Given the description of an element on the screen output the (x, y) to click on. 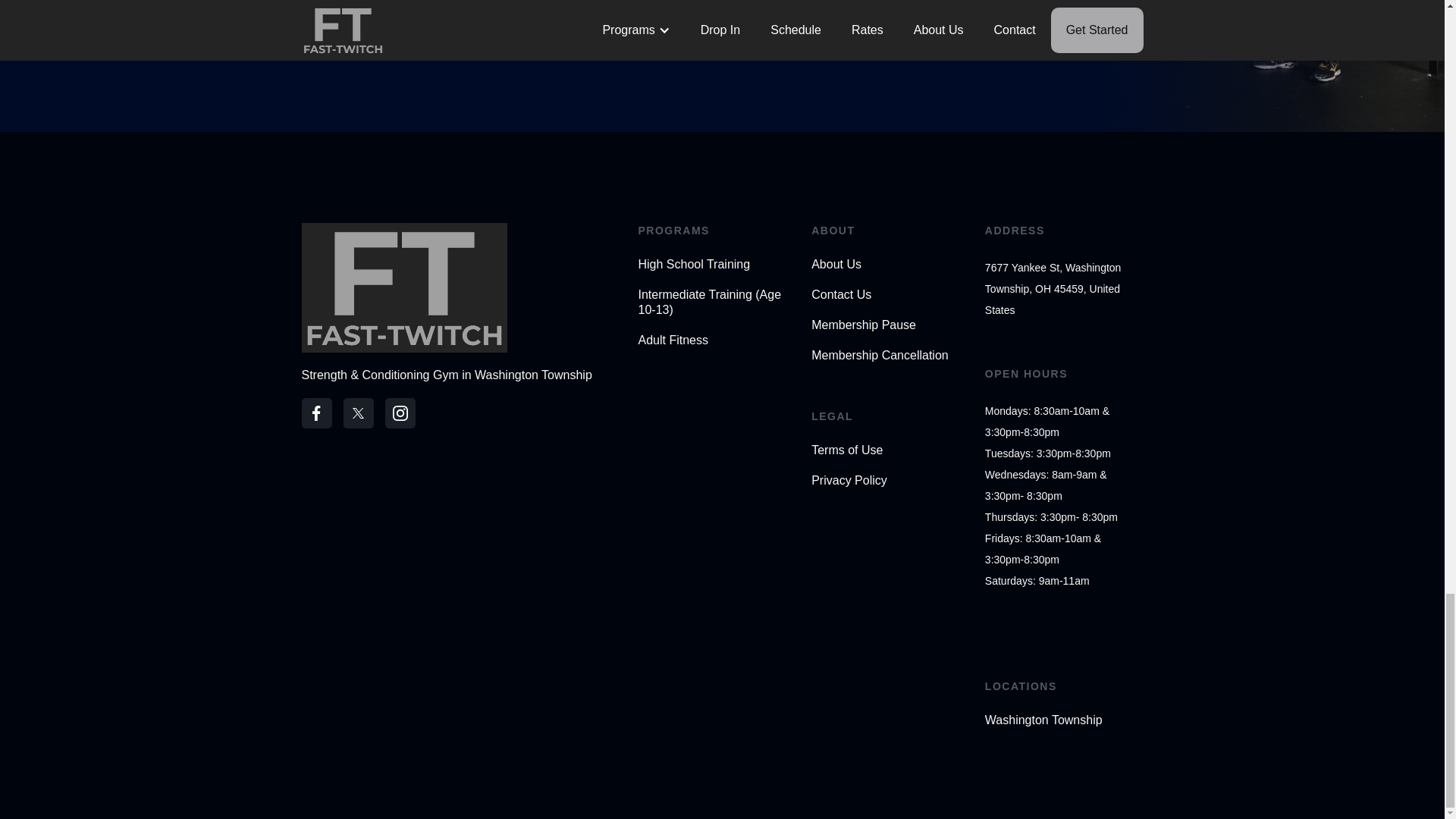
About Us (889, 264)
Membership Pause (889, 324)
Schedule Your Free Evaluation (504, 9)
High School Training (717, 264)
Adult Fitness (717, 340)
Contact Us (889, 294)
